Given the description of an element on the screen output the (x, y) to click on. 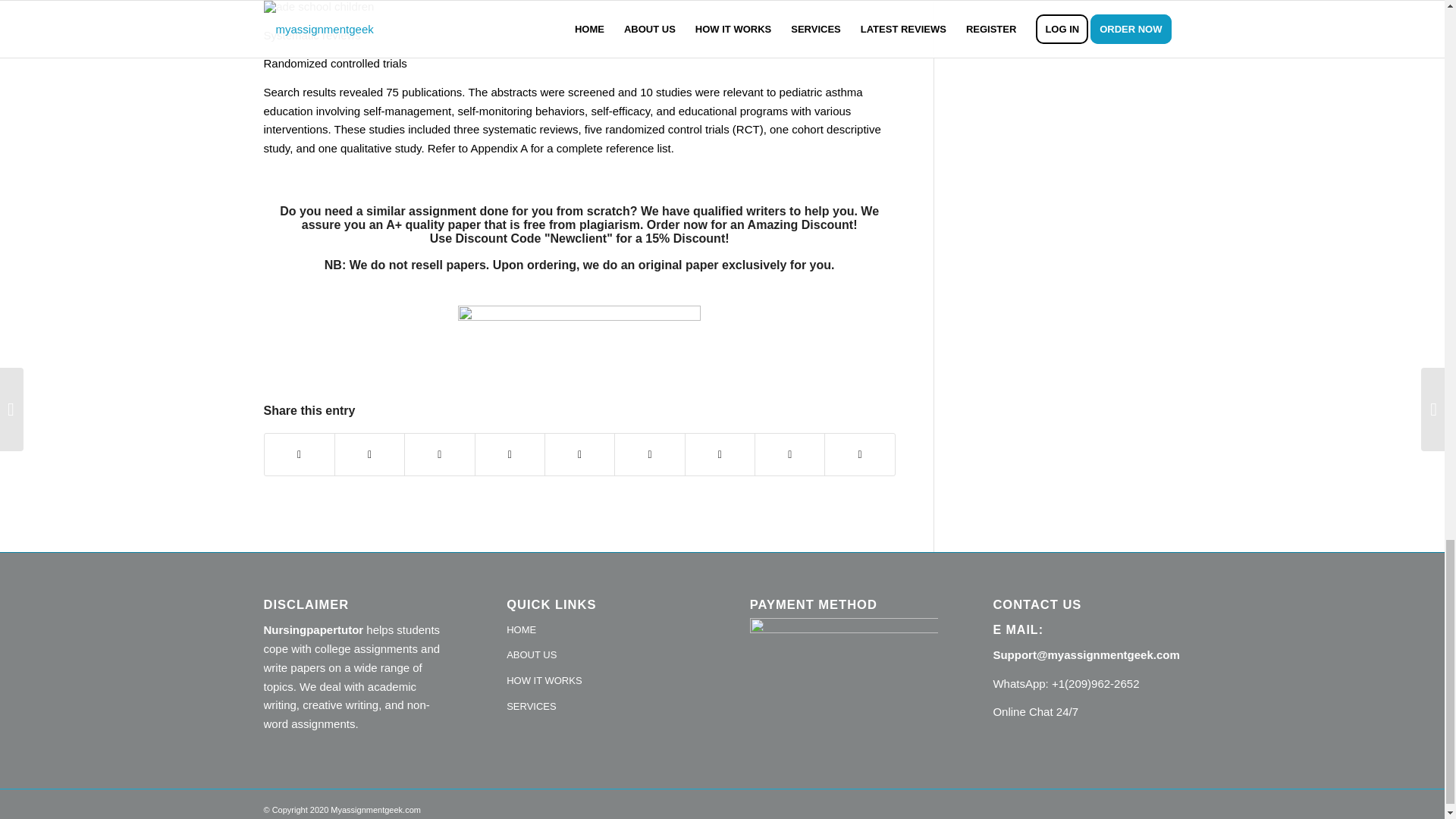
ABOUT US (600, 655)
HOME (600, 630)
SERVICES (600, 707)
HOW IT WORKS (600, 681)
